Given the description of an element on the screen output the (x, y) to click on. 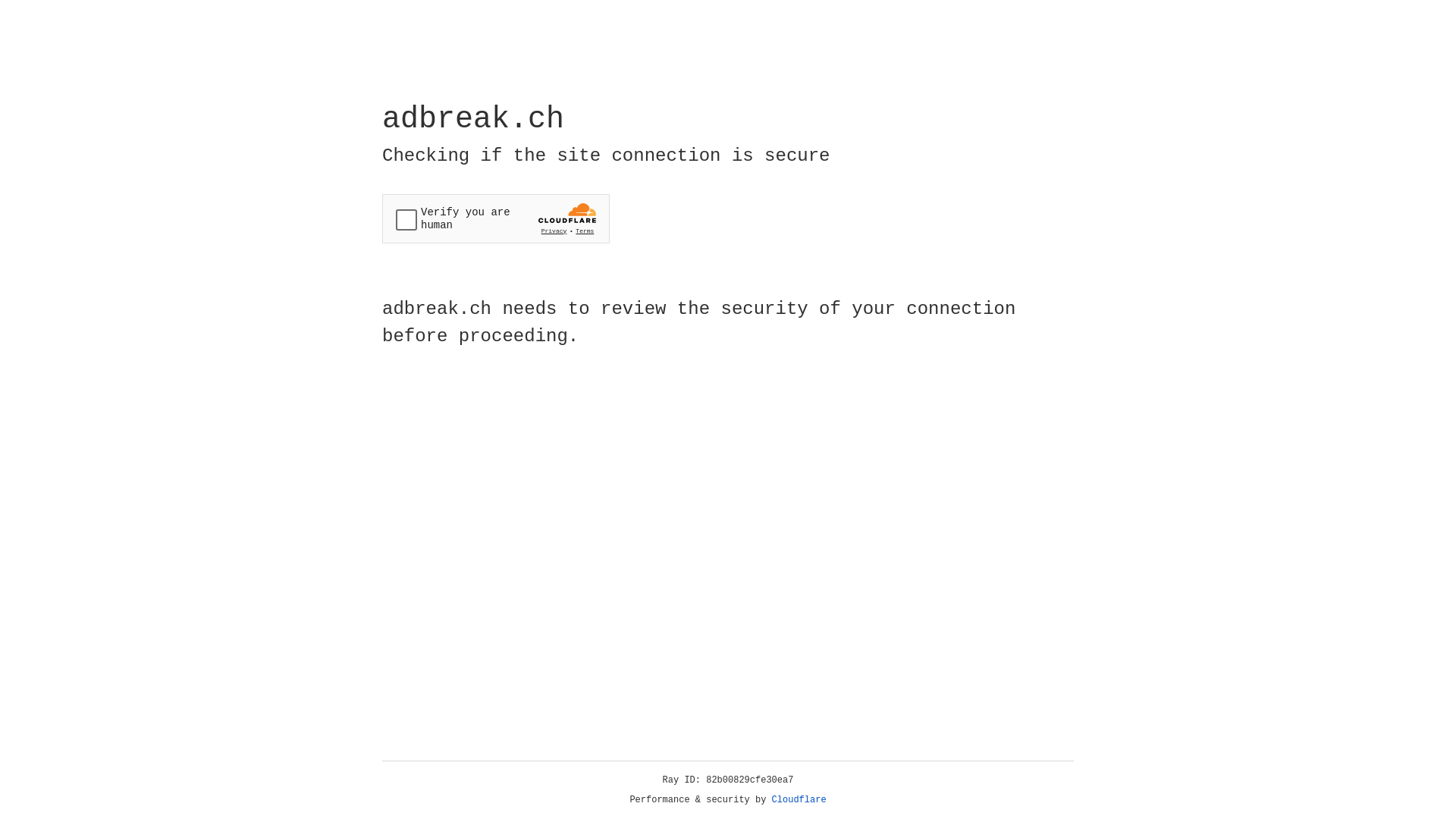
Widget containing a Cloudflare security challenge Element type: hover (495, 218)
Cloudflare Element type: text (798, 799)
